Given the description of an element on the screen output the (x, y) to click on. 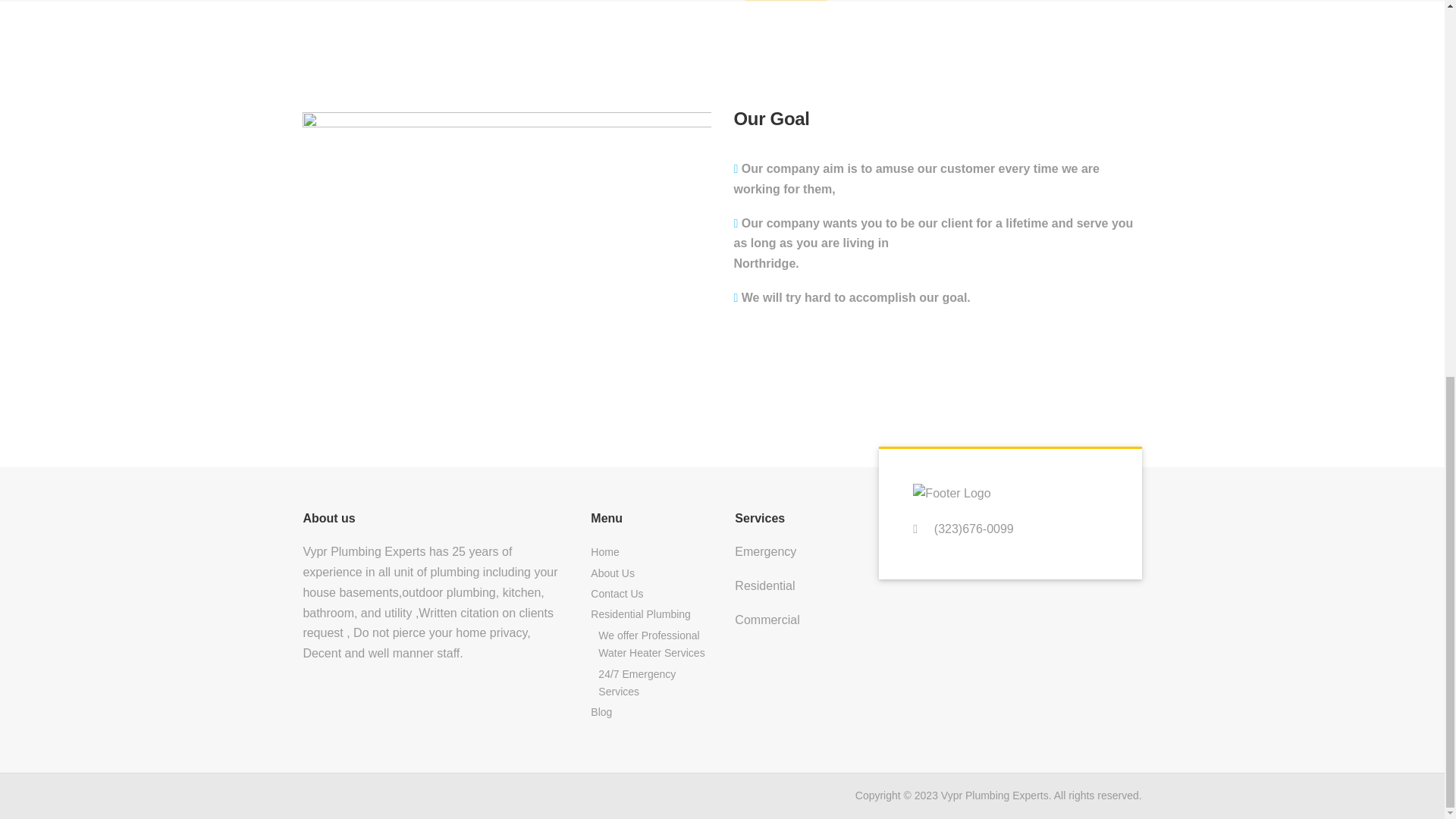
Home (650, 552)
Contact Us (650, 593)
About Us (650, 573)
Residential Plumbing (650, 614)
We offer Professional Water Heater Services (653, 644)
Blog (650, 711)
